Given the description of an element on the screen output the (x, y) to click on. 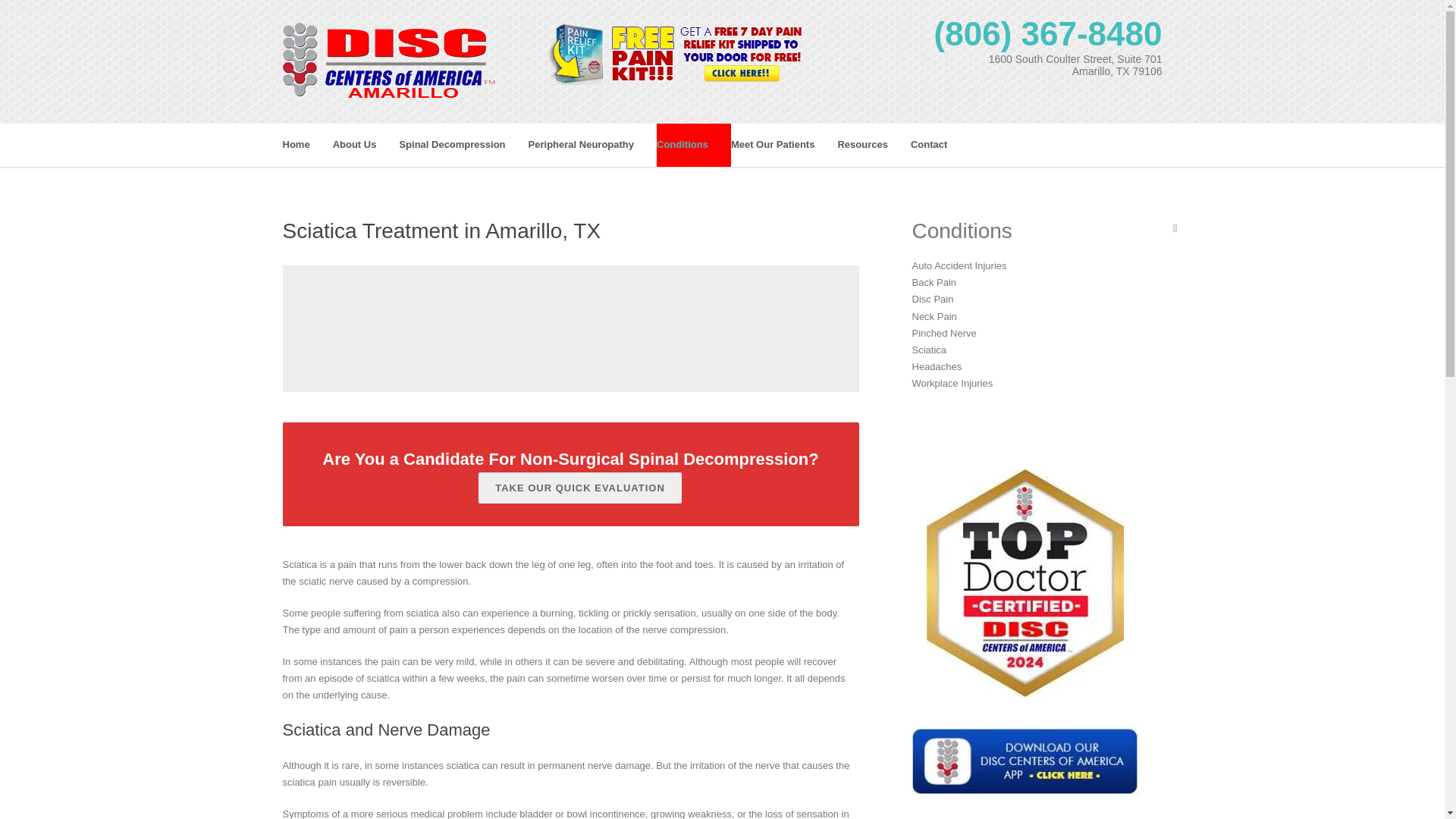
Meet Our Patients (784, 145)
Spinal Decompression (462, 145)
Contact (940, 145)
Peripheral Neuropathy (592, 145)
Bob - Sciatica (571, 326)
About Us (365, 145)
Conditions (693, 145)
Home (306, 145)
Resources (873, 145)
